Given the description of an element on the screen output the (x, y) to click on. 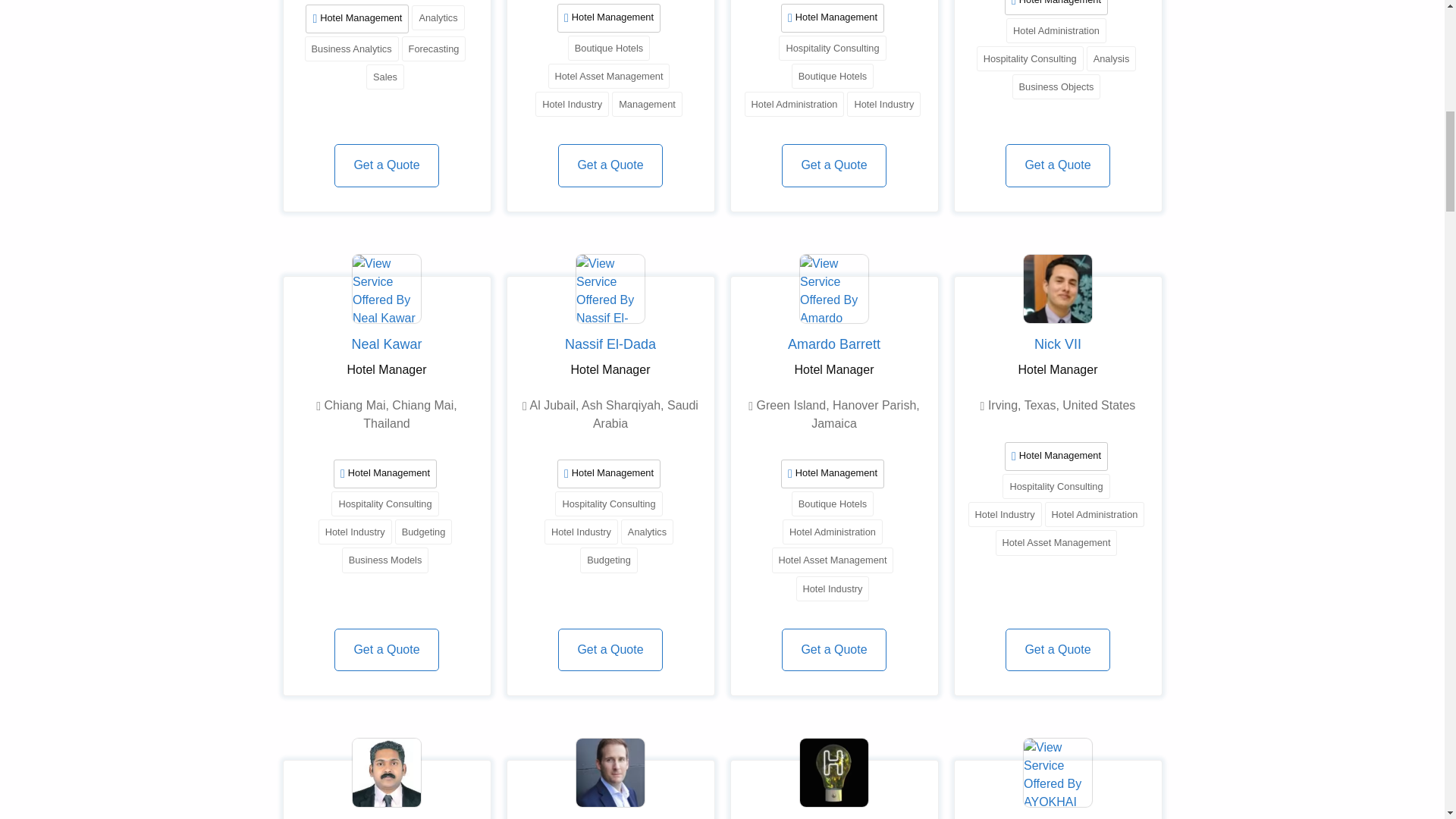
Get a Quote (1057, 165)
View Service Offered By Neal Kawar  (386, 288)
View Service Offered By AYOKHAI CHRISTOPHER O.  (1057, 772)
Get a Quote (609, 165)
View Service Offered By Nick VII  (1057, 288)
Get a Quote (833, 165)
View Service Offered By Alive Hospitality  (833, 772)
View Service Offered By Nassif El-Dada  (610, 288)
View Service Offered By Adam Knight  (610, 772)
View Service Offered By Amardo Barrett  (833, 288)
View Service Offered By Nishad Raveendran  (386, 772)
Get a Quote (386, 649)
Get a Quote (386, 165)
Neal Kawar (387, 344)
